Given the description of an element on the screen output the (x, y) to click on. 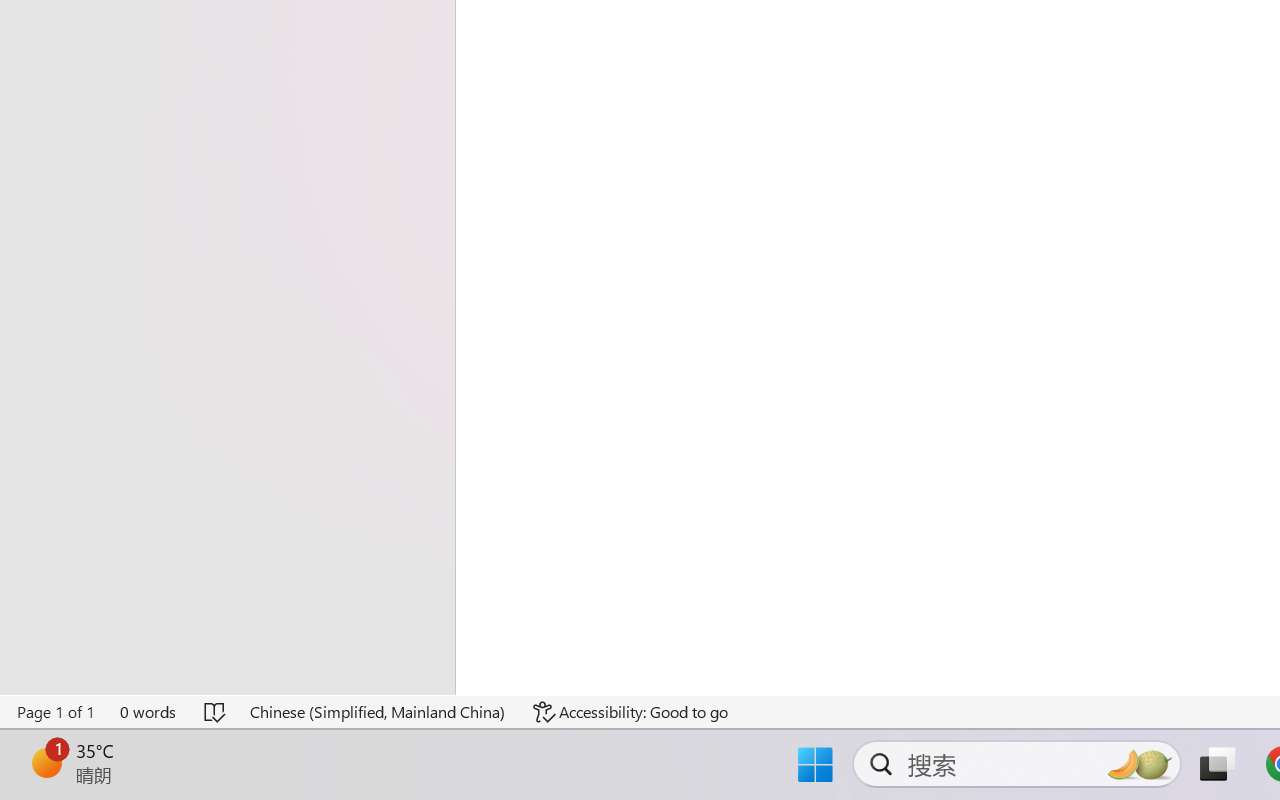
Language Chinese (Simplified, Mainland China) (378, 712)
